Given the description of an element on the screen output the (x, y) to click on. 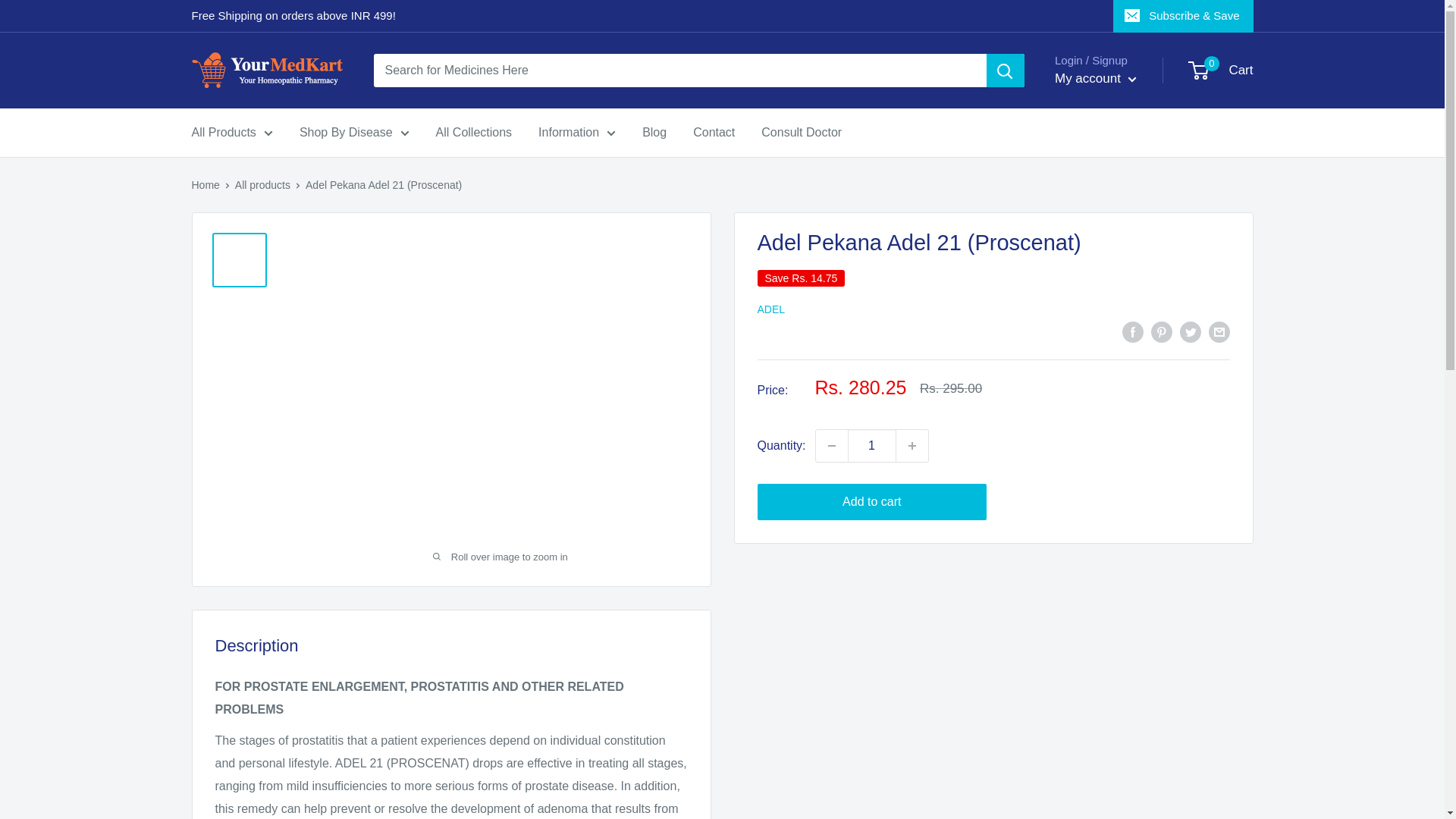
Decrease quantity by 1 (831, 445)
Free Shipping on orders above INR 499! (292, 15)
1 (871, 445)
Increase quantity by 1 (912, 445)
